Given the description of an element on the screen output the (x, y) to click on. 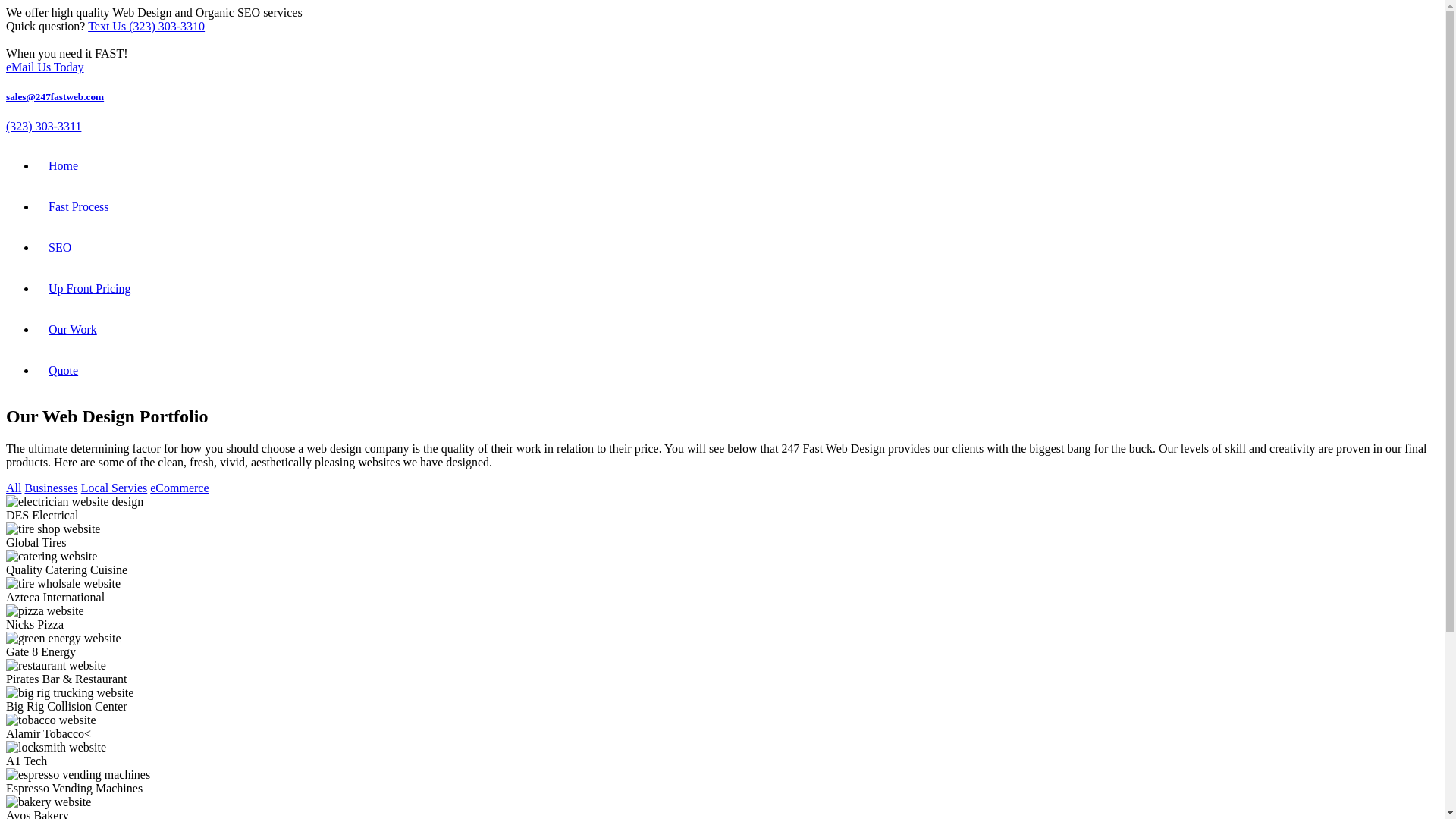
Businesses Element type: text (50, 487)
Local Servies Element type: text (114, 487)
eCommerce Element type: text (179, 487)
Text Us (323) 303-3310 Element type: text (145, 25)
eMail Us Today Element type: text (45, 66)
SEO Element type: text (59, 247)
Quote Element type: text (63, 369)
Home Element type: text (63, 165)
Fast Process Element type: text (78, 206)
Up Front Pricing Element type: text (89, 288)
sales@247fastweb.com Element type: text (54, 96)
All Element type: text (13, 487)
(323) 303-3311 Element type: text (43, 125)
Our Work Element type: text (72, 329)
